Given the description of an element on the screen output the (x, y) to click on. 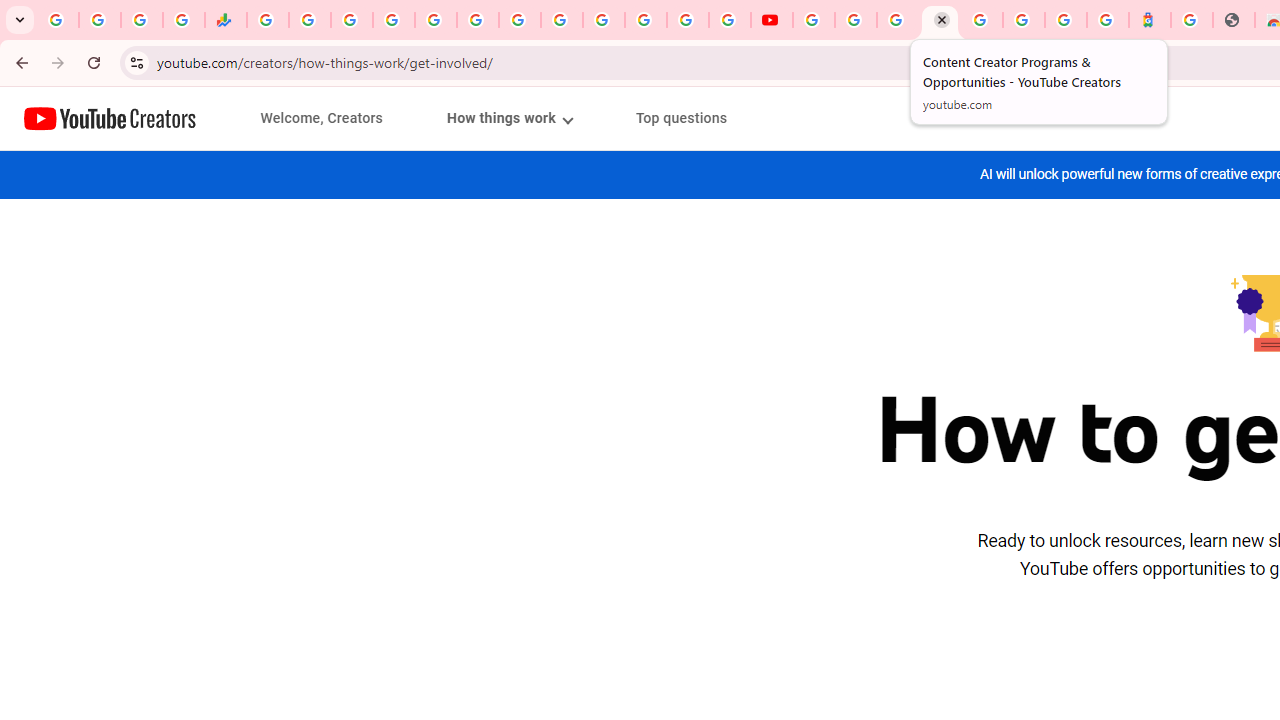
Android TV Policies and Guidelines - Transparency Center (520, 20)
Atour Hotel - Google hotels (1150, 20)
YouTube Creators (110, 118)
YouTube (561, 20)
Sign in - Google Accounts (1023, 20)
Sign in - Google Accounts (982, 20)
